Given the description of an element on the screen output the (x, y) to click on. 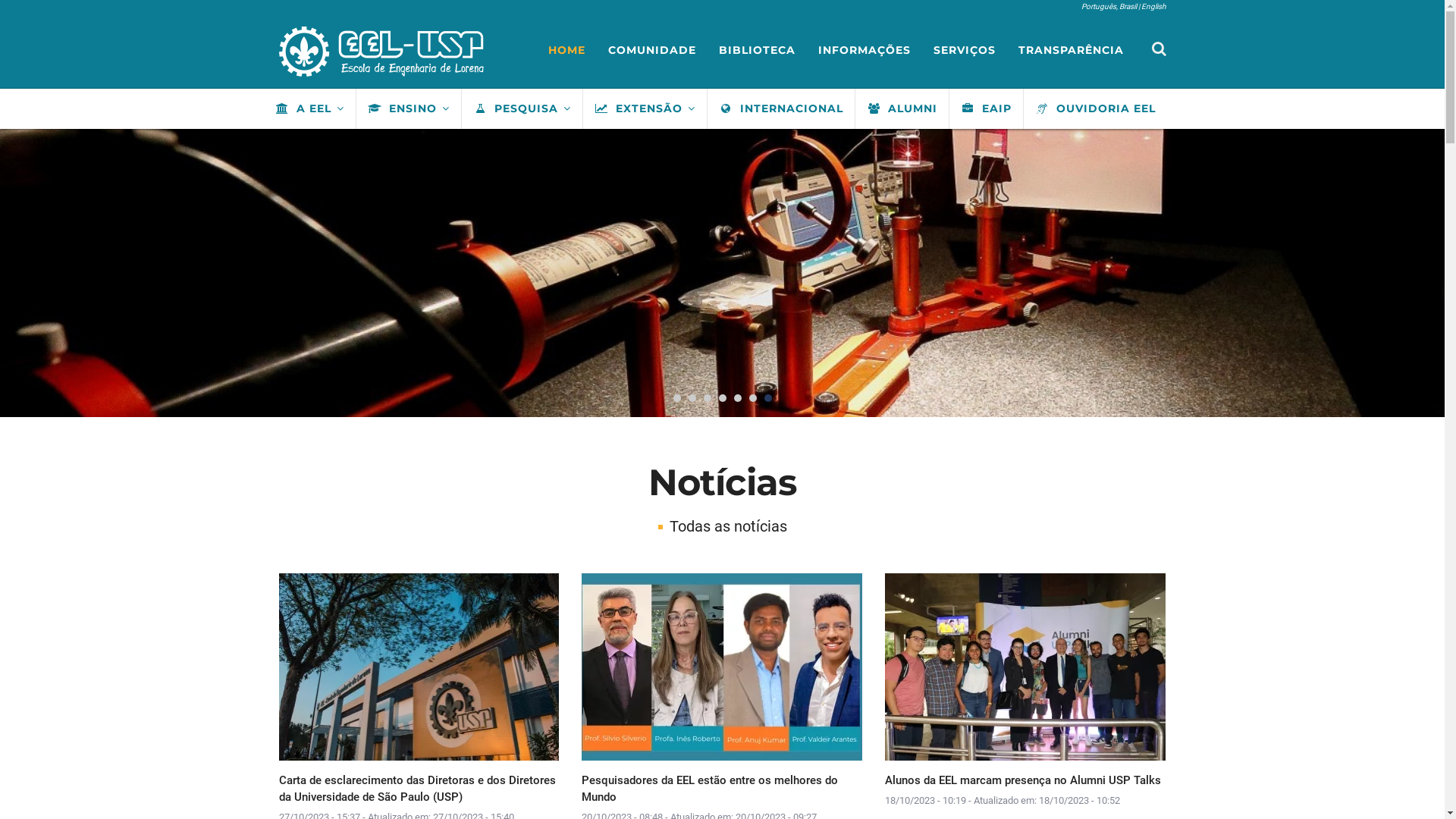
ENSINO Element type: text (407, 107)
BIBLIOTECA Element type: text (756, 50)
INTERNACIONAL Element type: text (780, 107)
EAIP Element type: text (984, 107)
COMUNIDADE Element type: text (651, 50)
ALUMNI Element type: text (900, 107)
A EEL Element type: text (309, 107)
HOME Element type: text (566, 50)
English Element type: text (1152, 6)
OUVIDORIA EEL Element type: text (1094, 107)
PESQUISA Element type: text (521, 107)
